Given the description of an element on the screen output the (x, y) to click on. 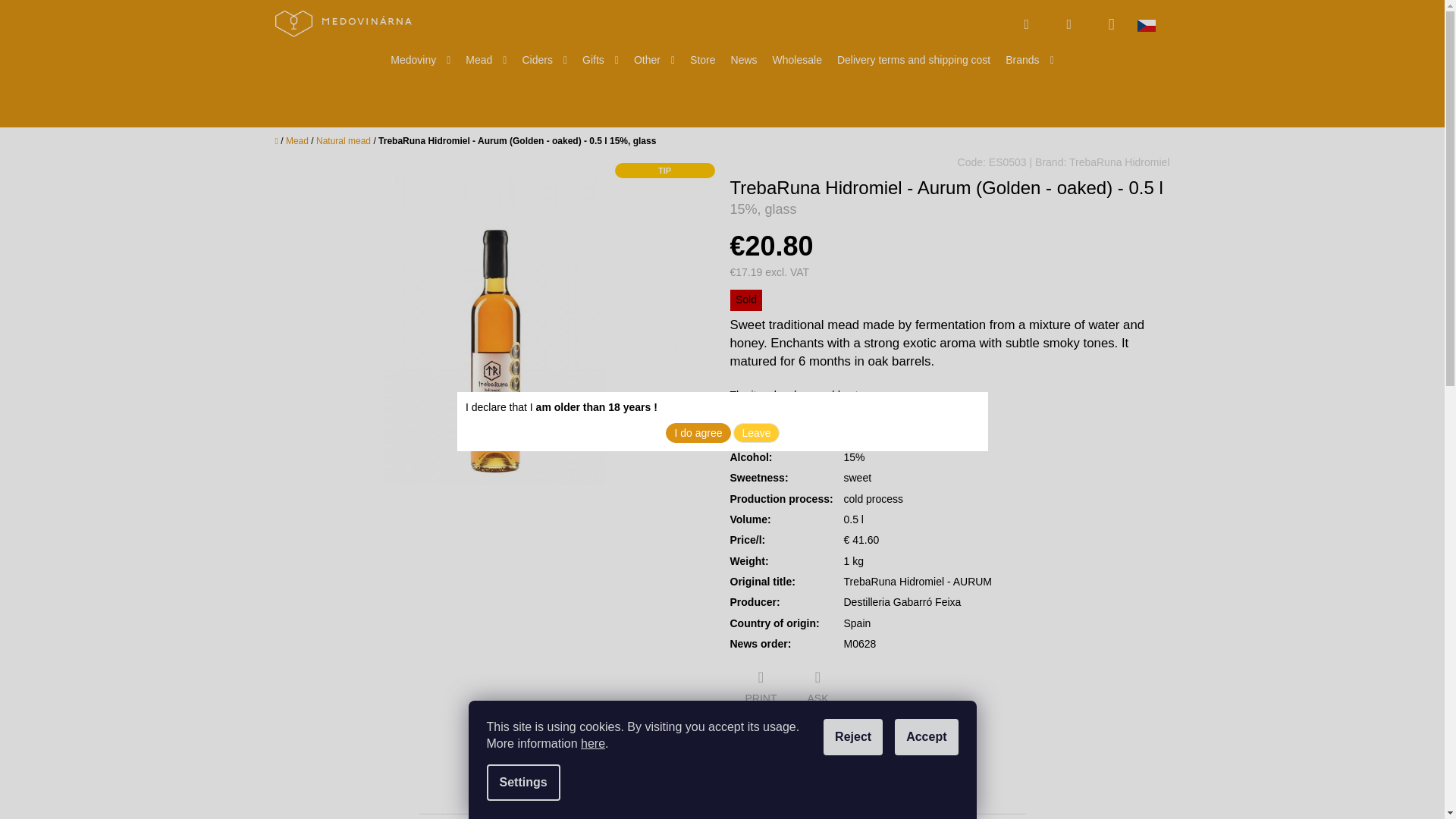
Speak to a sales advisor (817, 687)
Mead (485, 59)
Print product (760, 687)
Medoviny (420, 59)
